Given the description of an element on the screen output the (x, y) to click on. 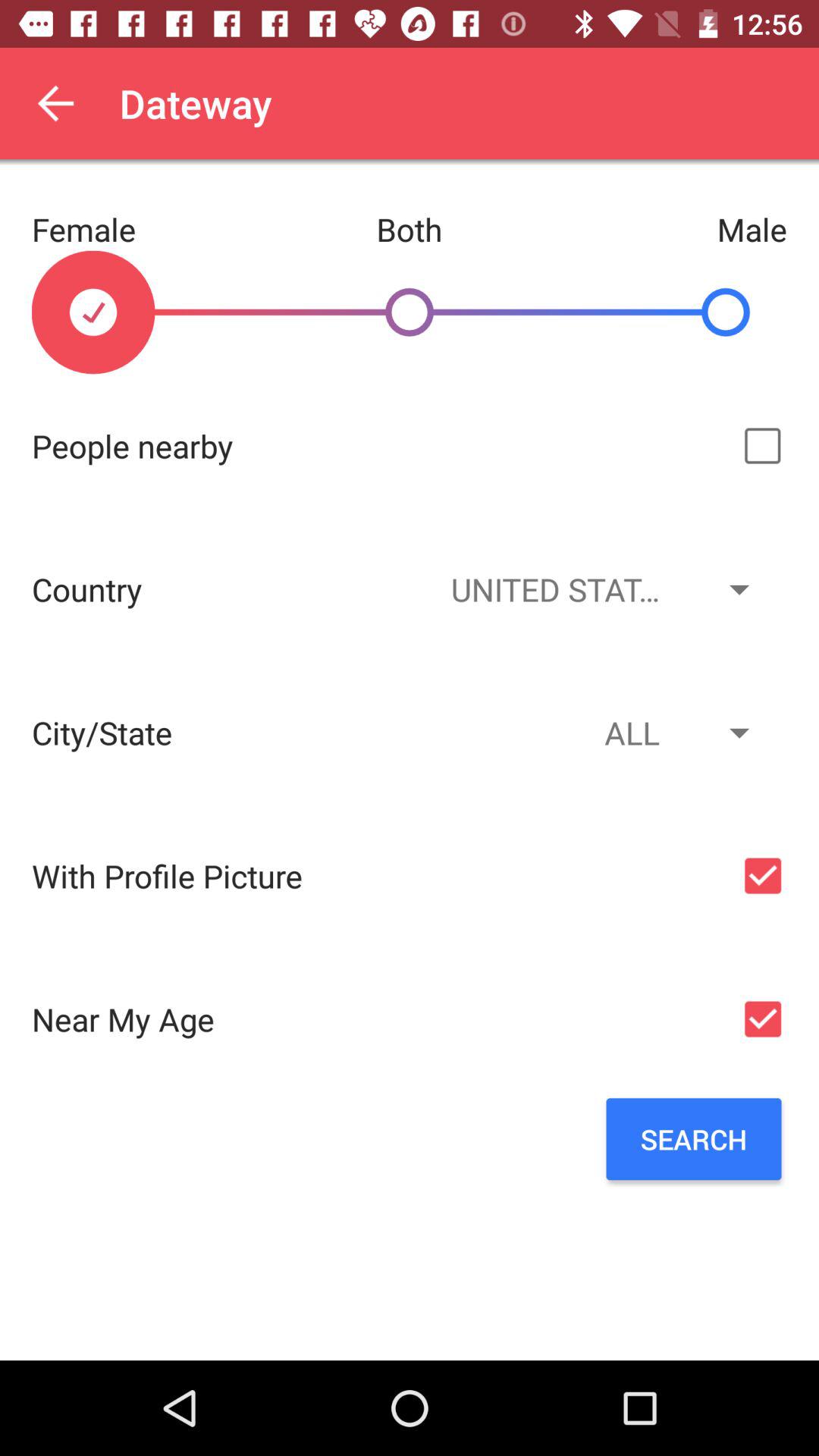
uncheck option for near my age (762, 1018)
